Given the description of an element on the screen output the (x, y) to click on. 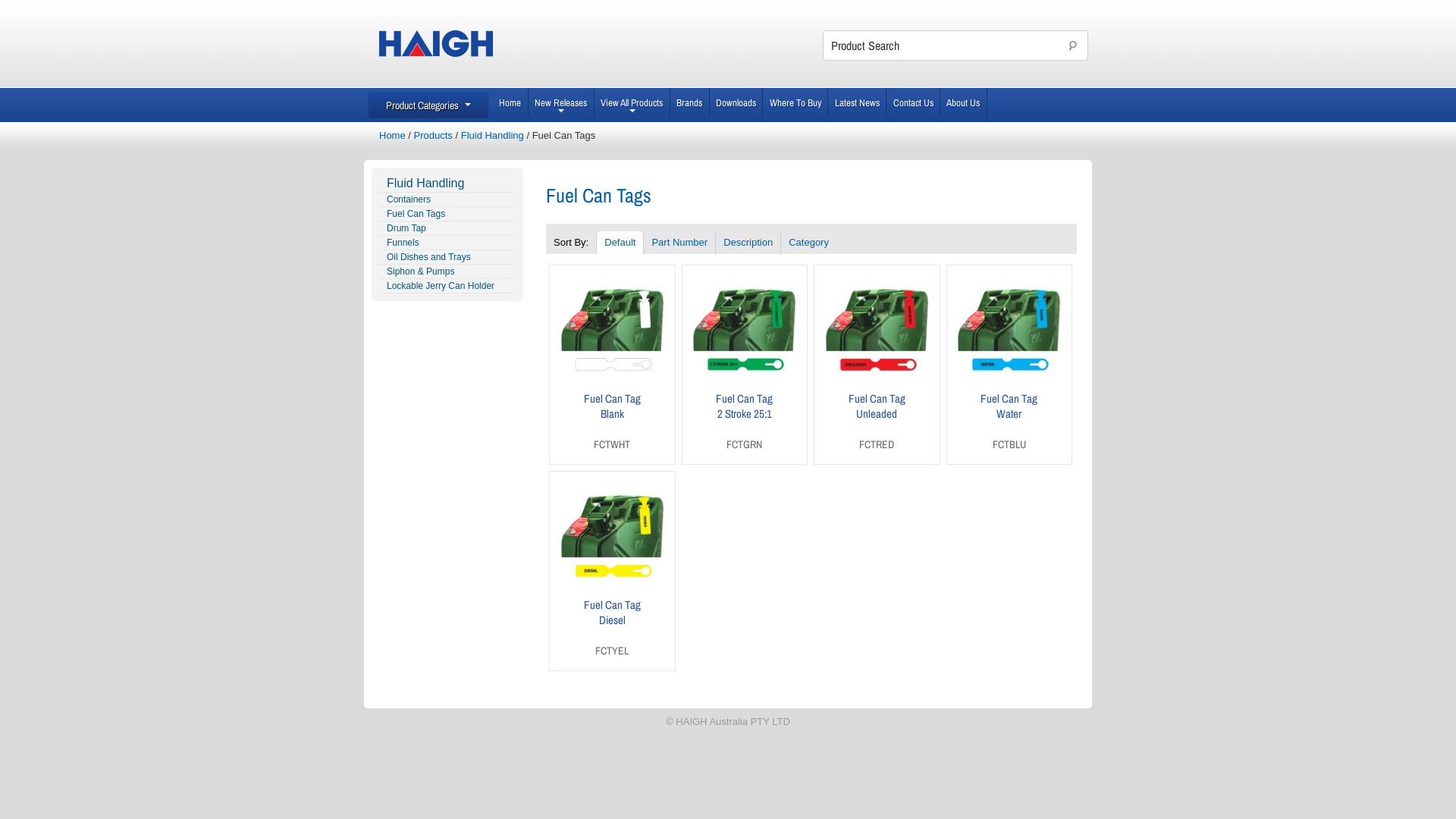
Home Element type: text (510, 101)
Fluid Handling Element type: text (447, 183)
Fuel Can Tag
Unleaded
FCTRED Element type: text (876, 364)
Brands Element type: text (689, 101)
Fuel Can Tag
Blank
FCTWHT Element type: text (612, 364)
FCTBLU Element type: text (1009, 444)
Fuel Can Tag
Unleaded Element type: text (876, 406)
FCTRED Element type: text (876, 444)
Oil Dishes and Trays Element type: text (447, 257)
Fuel Can Tag
Diesel Element type: text (611, 612)
Contact Us Element type: text (913, 101)
Fuel Can Tag
2 Stroke 25:1
FCTGRN Element type: text (743, 364)
Downloads Element type: text (736, 101)
View All Products Element type: text (632, 101)
FCTYEL Element type: text (611, 650)
Fuel Can Tag
2 Stroke 25:1 Element type: text (743, 406)
Containers Element type: text (447, 199)
Funnels Element type: text (447, 242)
Part Number Element type: text (679, 242)
Fluid Handling Element type: text (492, 135)
Fuel Can Tag
Water Element type: text (1008, 406)
FCTWHT Element type: text (611, 444)
Description Element type: text (747, 242)
FCTGRN Element type: text (744, 444)
Drum Tap Element type: text (447, 228)
Where To Buy Element type: text (795, 101)
Home Element type: text (392, 135)
Fuel Can Tag
Diesel
FCTYEL Element type: text (612, 570)
Default Element type: text (619, 242)
About Us Element type: text (963, 101)
Siphon & Pumps Element type: text (447, 271)
Latest News Element type: text (857, 101)
Lockable Jerry Can Holder Element type: text (447, 286)
Product Categories Element type: text (428, 105)
New Releases Element type: text (561, 101)
Fuel Can Tag
Water
FCTBLU Element type: text (1009, 364)
Fuel Can Tags Element type: text (447, 214)
Products Element type: text (433, 135)
Category Element type: text (808, 242)
Fuel Can Tag
Blank Element type: text (611, 406)
